Given the description of an element on the screen output the (x, y) to click on. 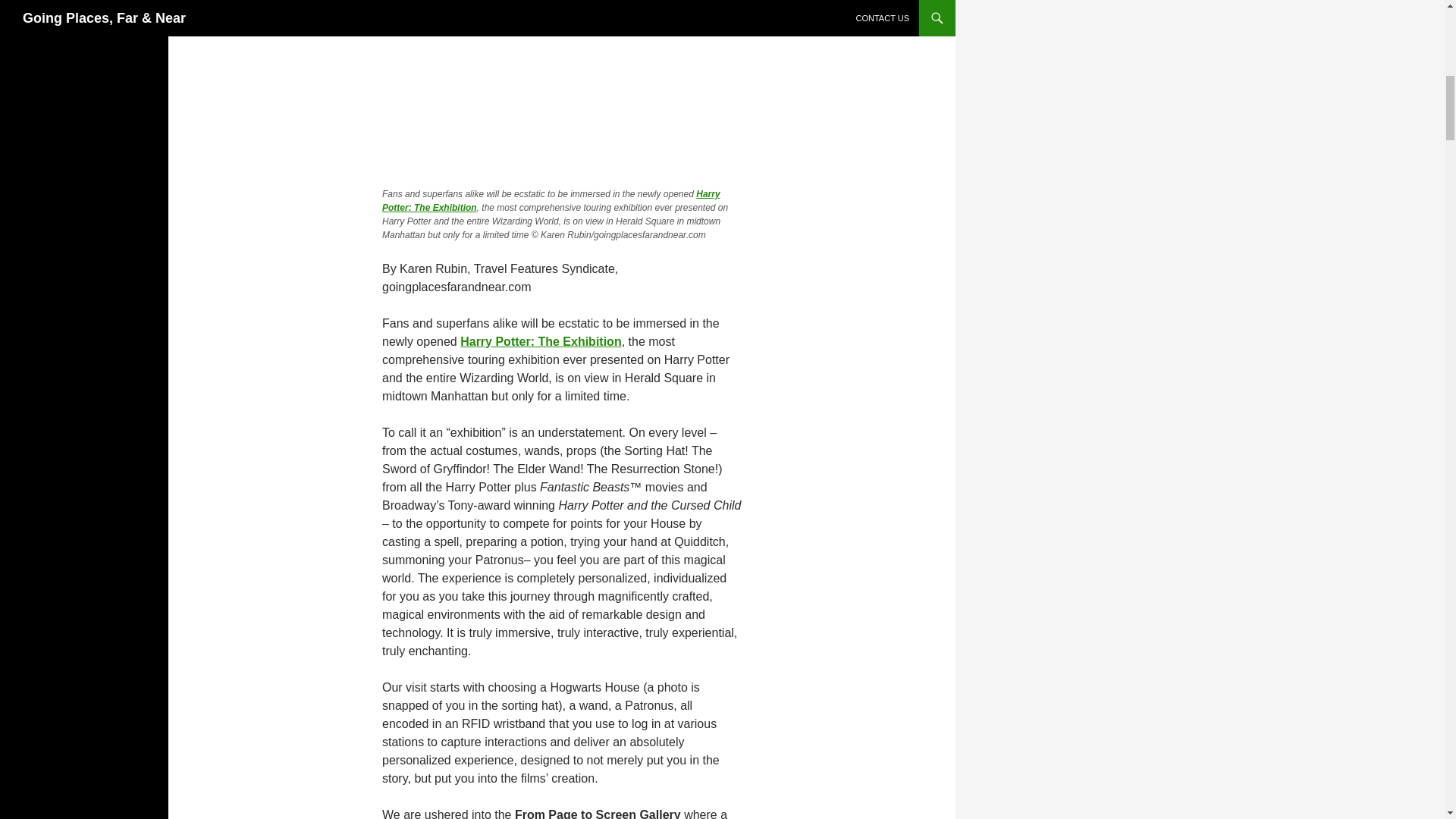
Harry Potter: The Exhibition (540, 341)
Harry Potter: The Exhibition (550, 200)
